Given the description of an element on the screen output the (x, y) to click on. 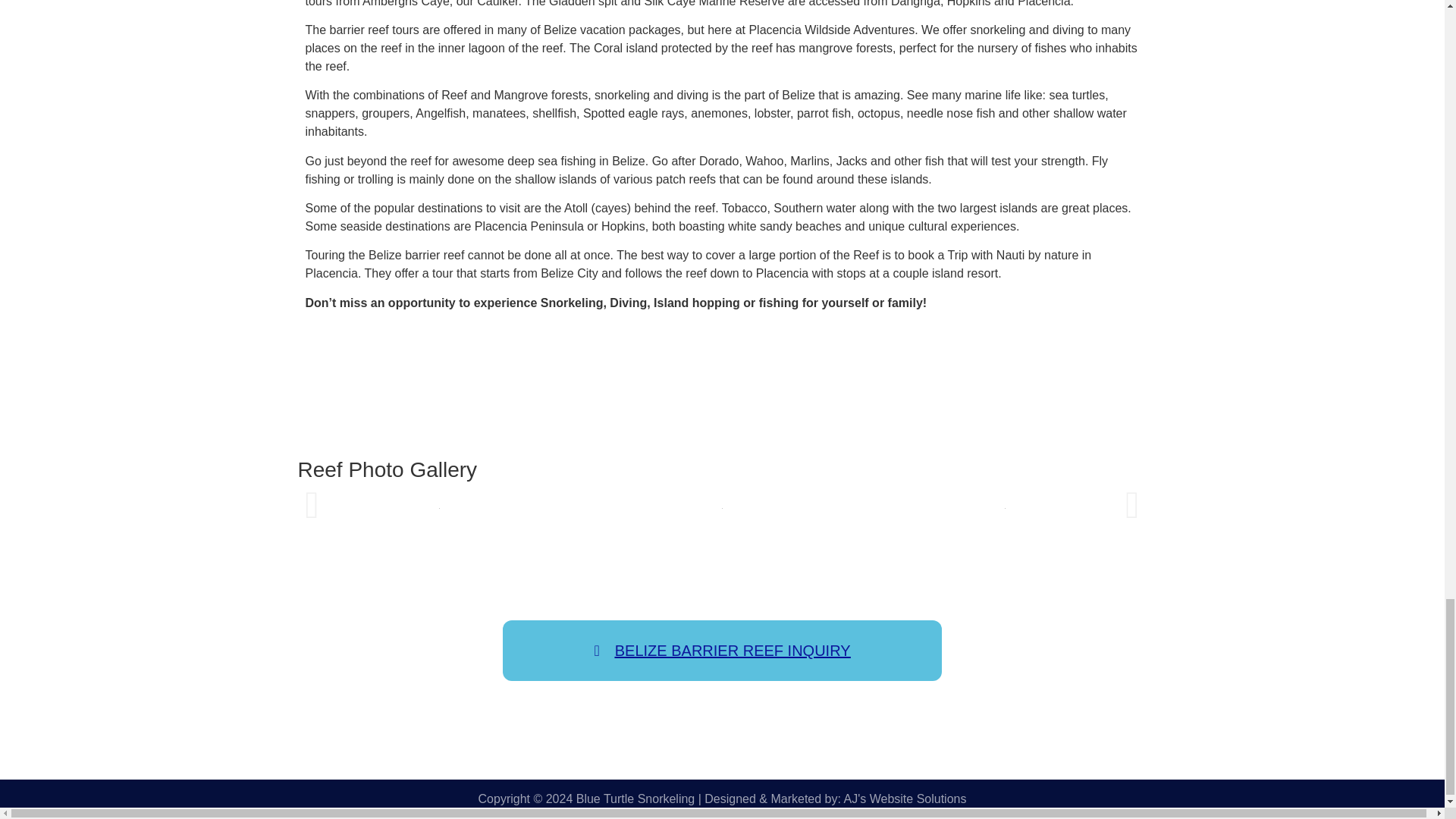
Belize Website Solutions (905, 798)
BELIZE BARRIER REEF INQUIRY (721, 649)
AJ's Website Solutions (905, 798)
